Given the description of an element on the screen output the (x, y) to click on. 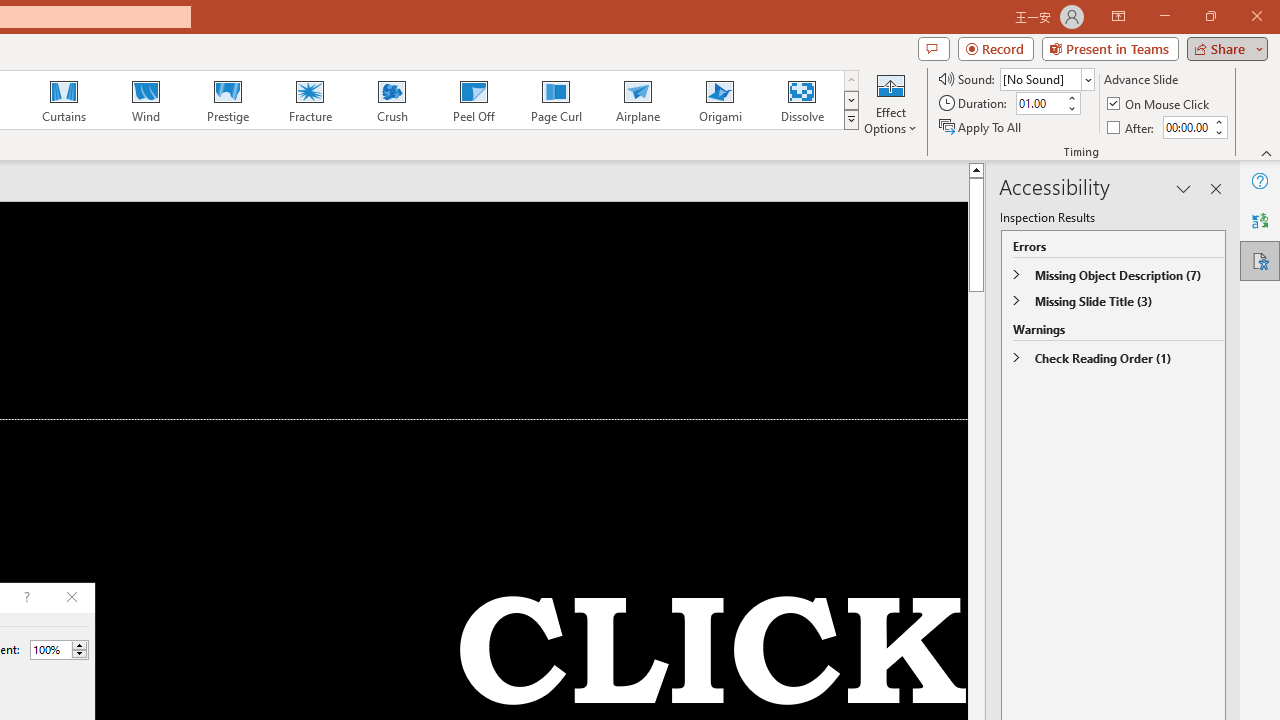
Wind (145, 100)
After (1131, 126)
Percent (50, 649)
Context help (25, 597)
Crush (391, 100)
Fracture (309, 100)
Curtains (63, 100)
Effect Options (890, 102)
Peel Off (473, 100)
Dissolve (802, 100)
Origami (719, 100)
